Given the description of an element on the screen output the (x, y) to click on. 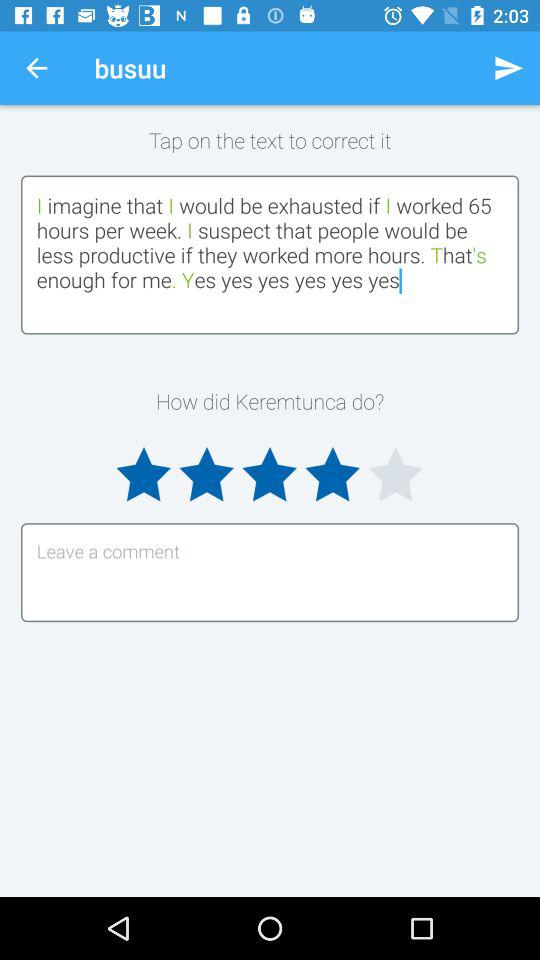
enter review (270, 572)
